Given the description of an element on the screen output the (x, y) to click on. 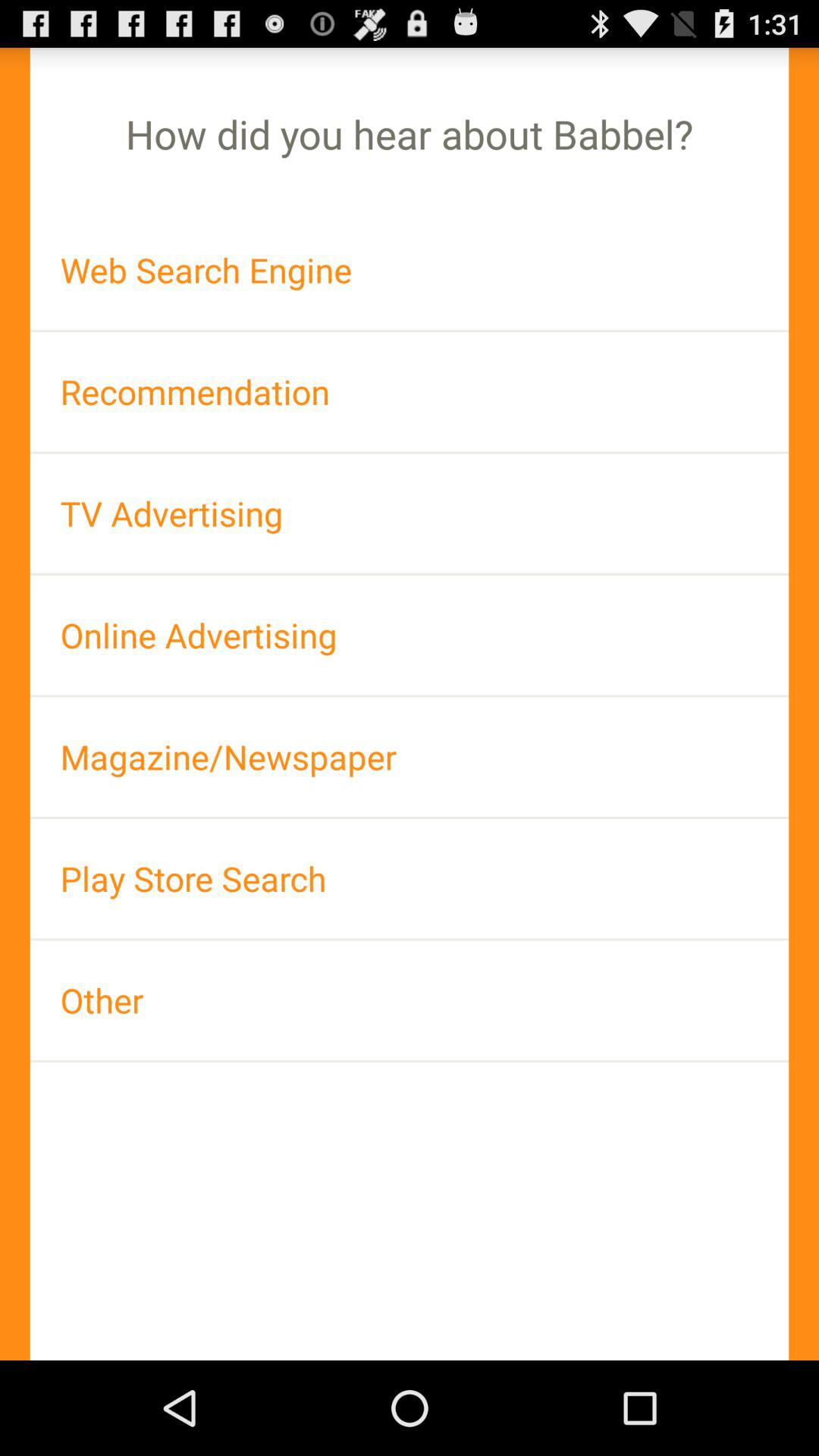
choose the item above recommendation (409, 269)
